Given the description of an element on the screen output the (x, y) to click on. 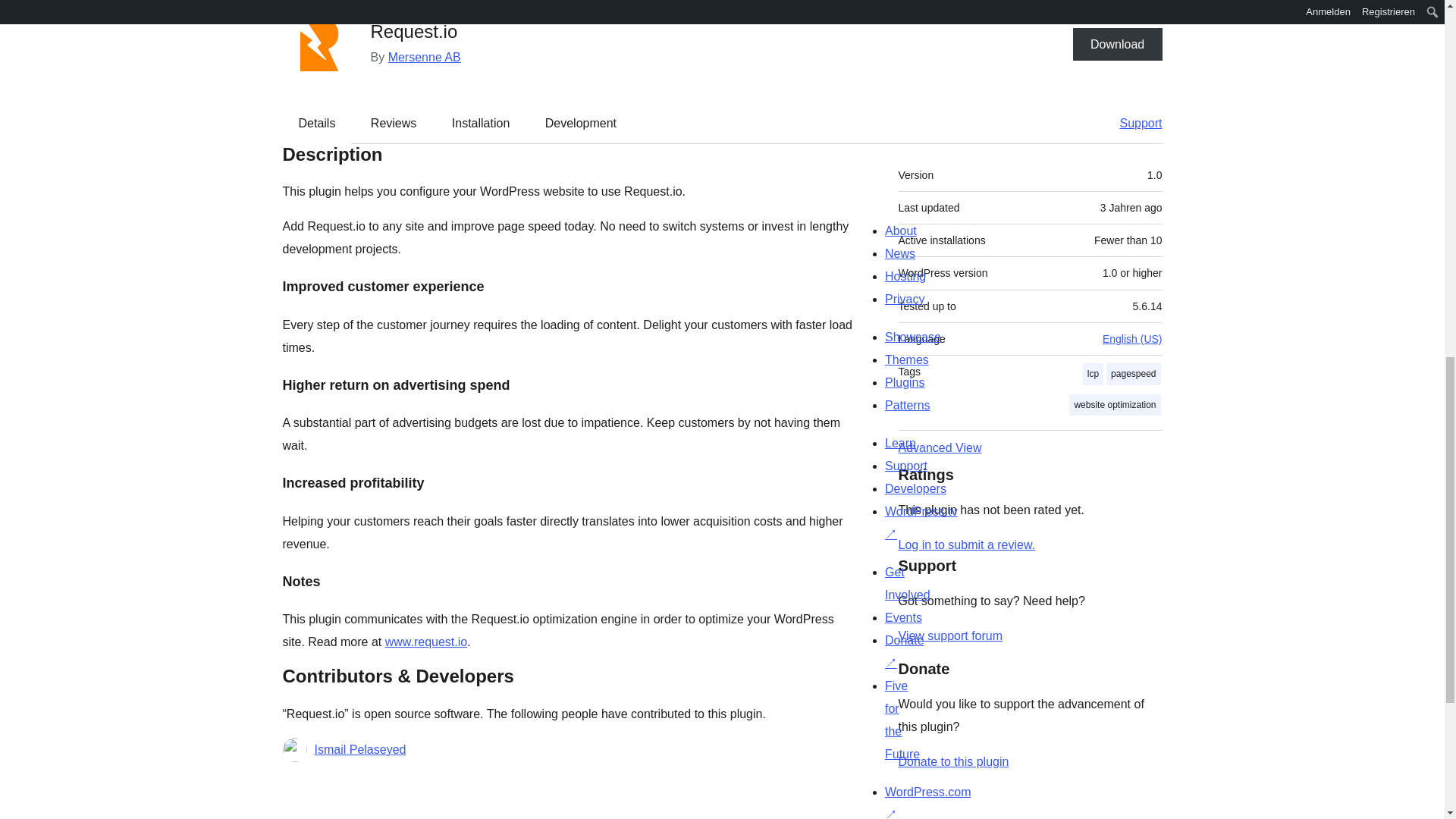
Reviews (392, 123)
Support (1132, 123)
Installation (480, 123)
Development (580, 123)
Download (1117, 43)
Mersenne AB (424, 56)
Ismail Pelaseyed (360, 749)
www.request.io (426, 641)
Log in to WordPress.org (966, 544)
Details (316, 123)
